Given the description of an element on the screen output the (x, y) to click on. 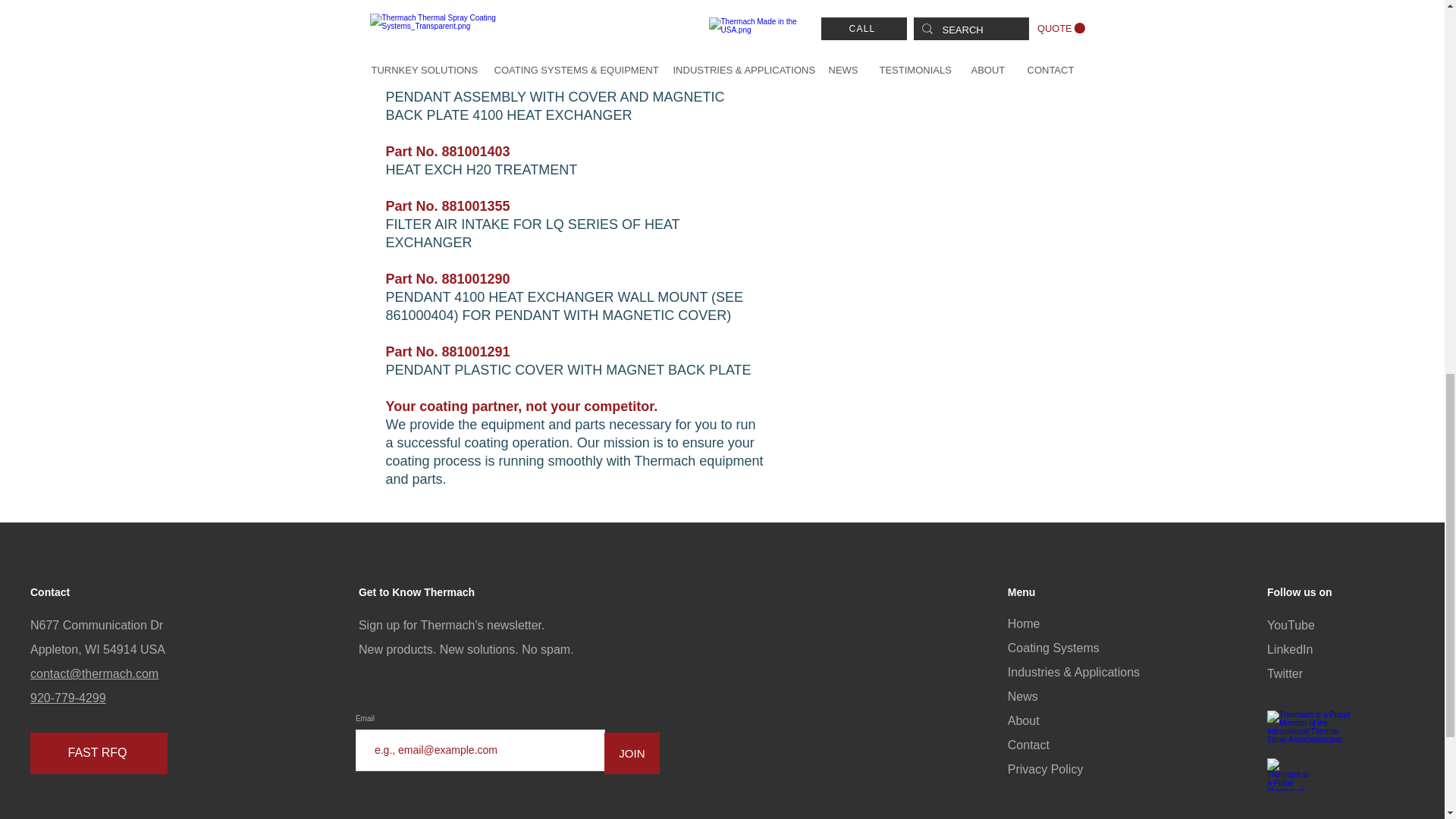
920-779-4299 (68, 697)
FAST RFQ (98, 752)
JOIN (631, 752)
